Given the description of an element on the screen output the (x, y) to click on. 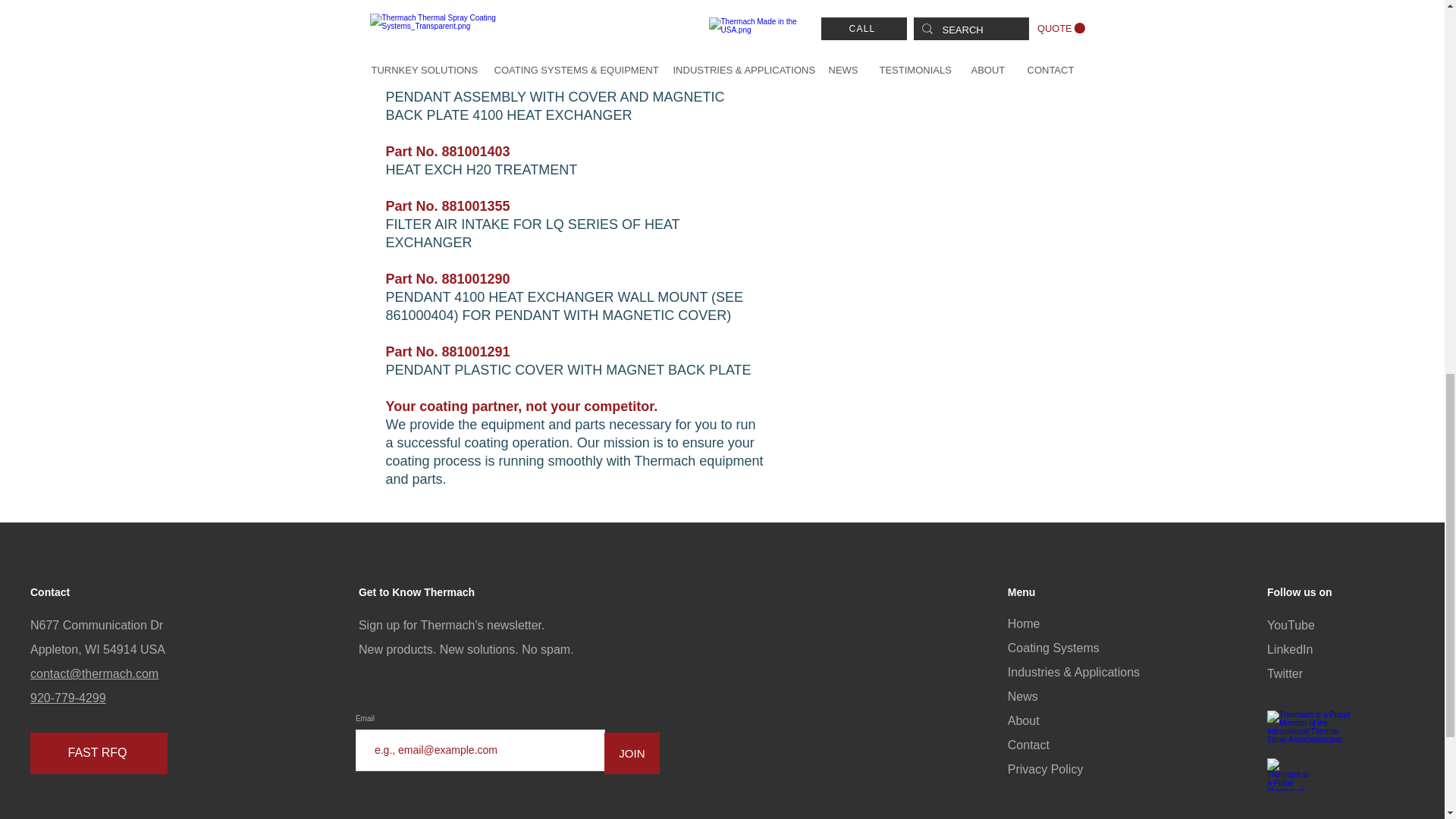
920-779-4299 (68, 697)
FAST RFQ (98, 752)
JOIN (631, 752)
